Given the description of an element on the screen output the (x, y) to click on. 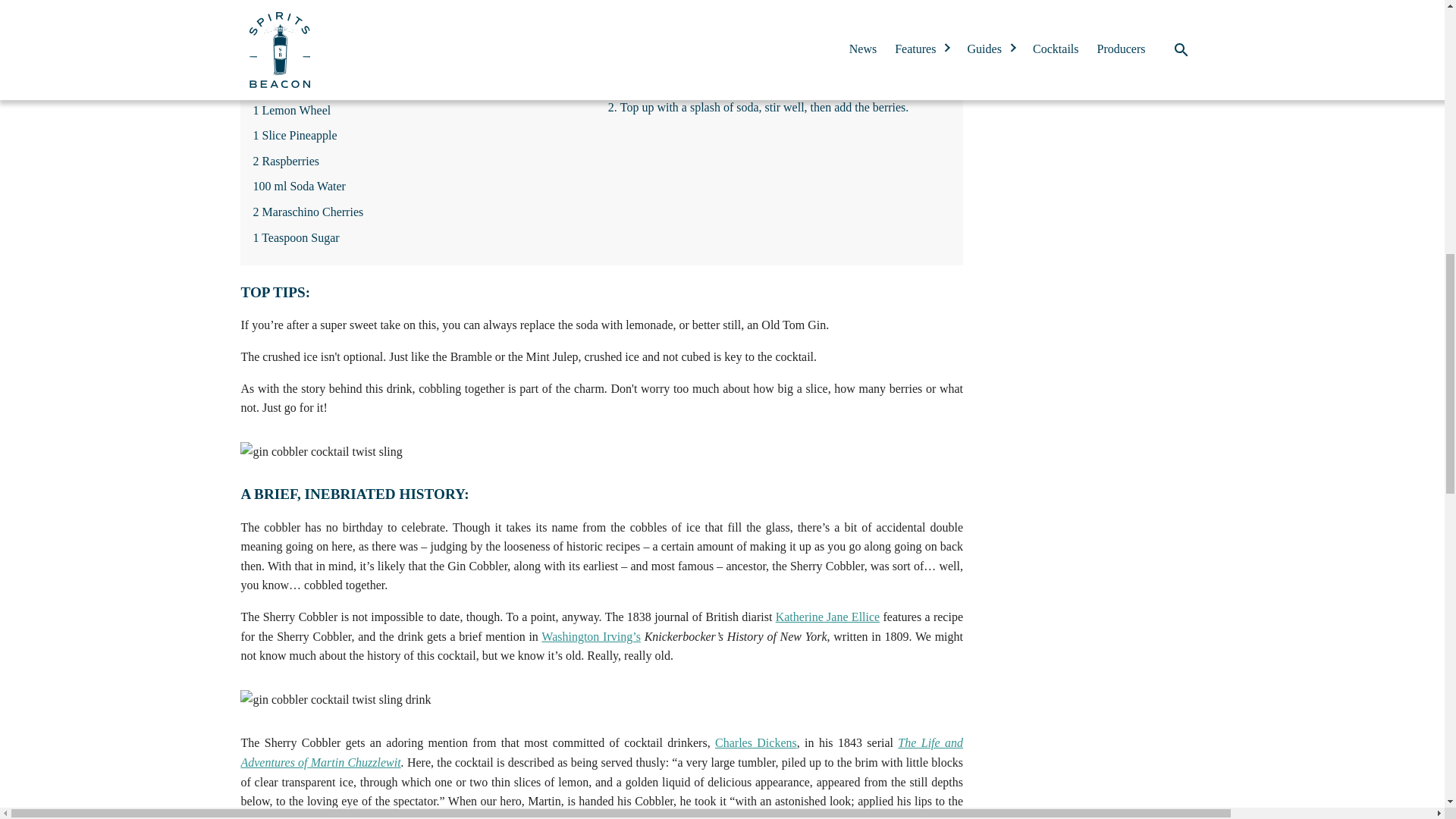
Katherine Jane Ellice (827, 616)
gin cobbler cocktail twist sling (320, 451)
Charles Dickens (755, 742)
gin cobbler cocktail twist sling drink (335, 700)
The Life and Adventures of Martin Chuzzlewit (601, 752)
